Given the description of an element on the screen output the (x, y) to click on. 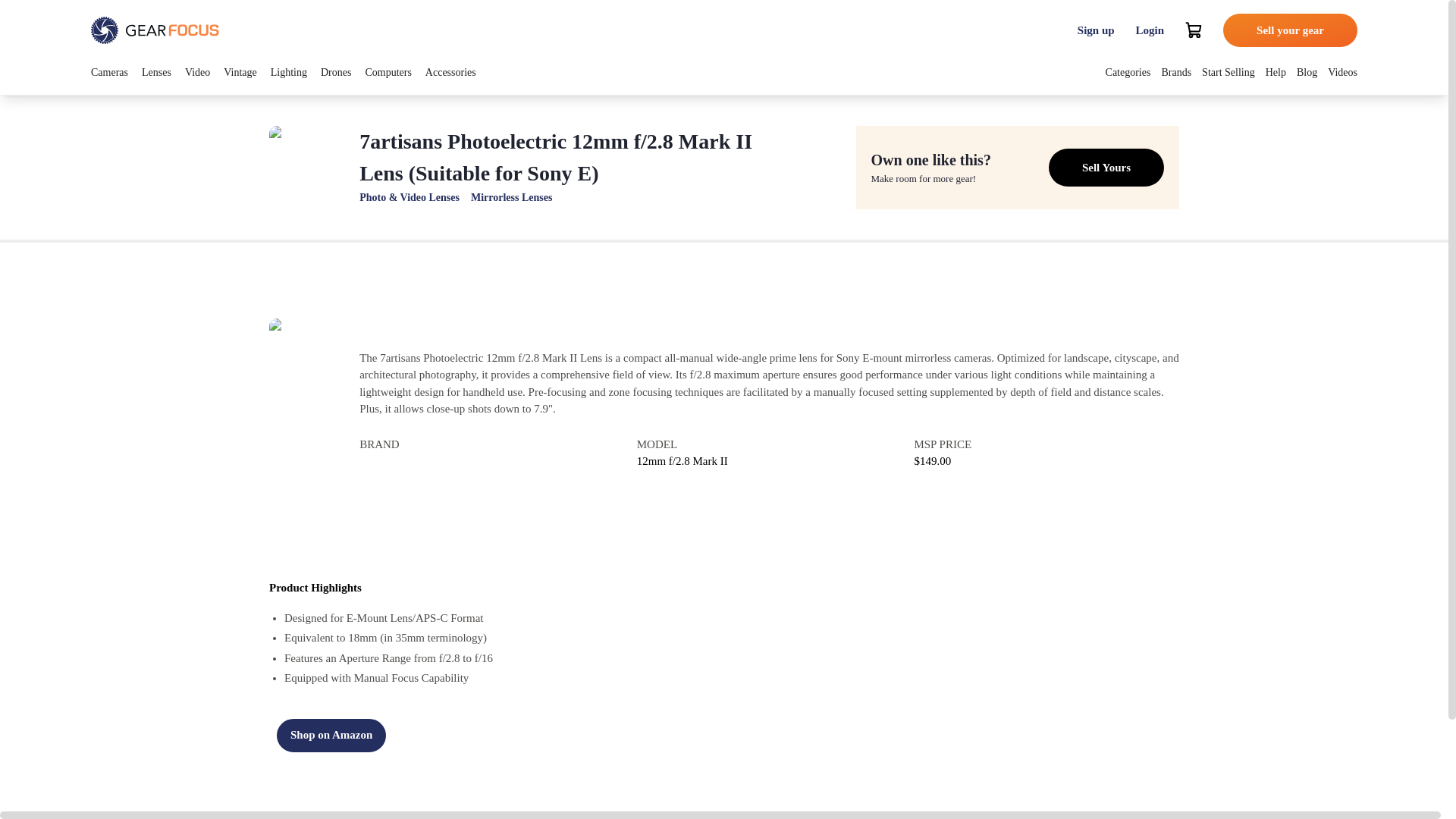
Blog (1307, 71)
Cameras (109, 71)
Shop on Amazon (330, 735)
Sign up (1096, 30)
Categories (1128, 71)
Brands (1175, 71)
Sell your gear (1289, 29)
Sell Yours (1105, 167)
Sell Your Used Camera Gear With Gear Focus (1289, 29)
Lighting (288, 71)
Help (1275, 71)
Computers (387, 71)
Start Selling (1228, 71)
Video (196, 71)
Vintage (240, 71)
